Given the description of an element on the screen output the (x, y) to click on. 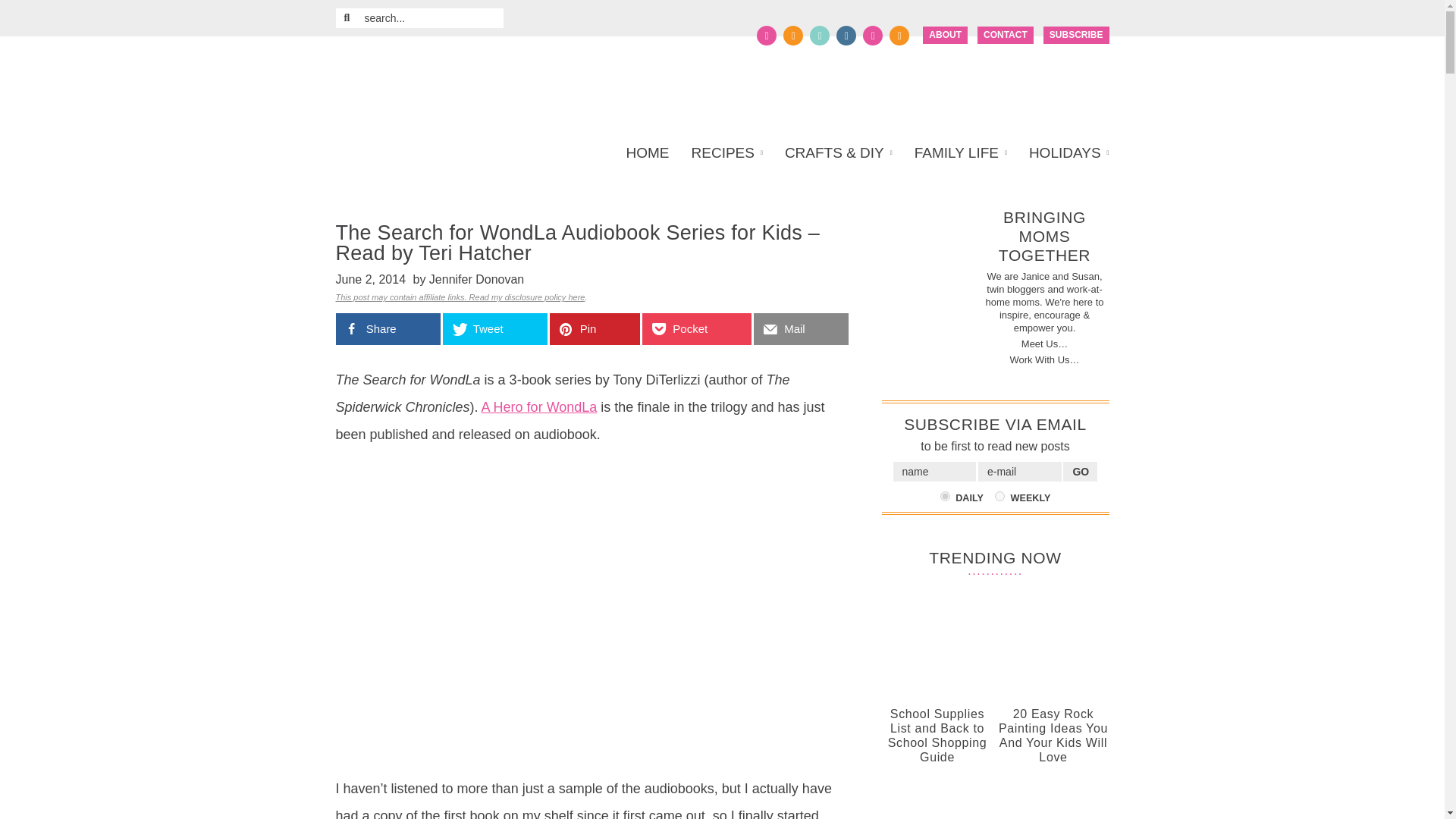
Follow 5 Minutes For Mom on Pinterest (819, 35)
Follow 5 Minutes For Mom via RSS (898, 35)
Daily (945, 496)
Go (1079, 471)
Follow 5 Minutes For Mom on Facebook (766, 35)
Weekly (999, 496)
5 Minutes for Mom (480, 82)
ABOUT (945, 35)
HOME (652, 153)
SUBSCRIBE (1076, 35)
